Given the description of an element on the screen output the (x, y) to click on. 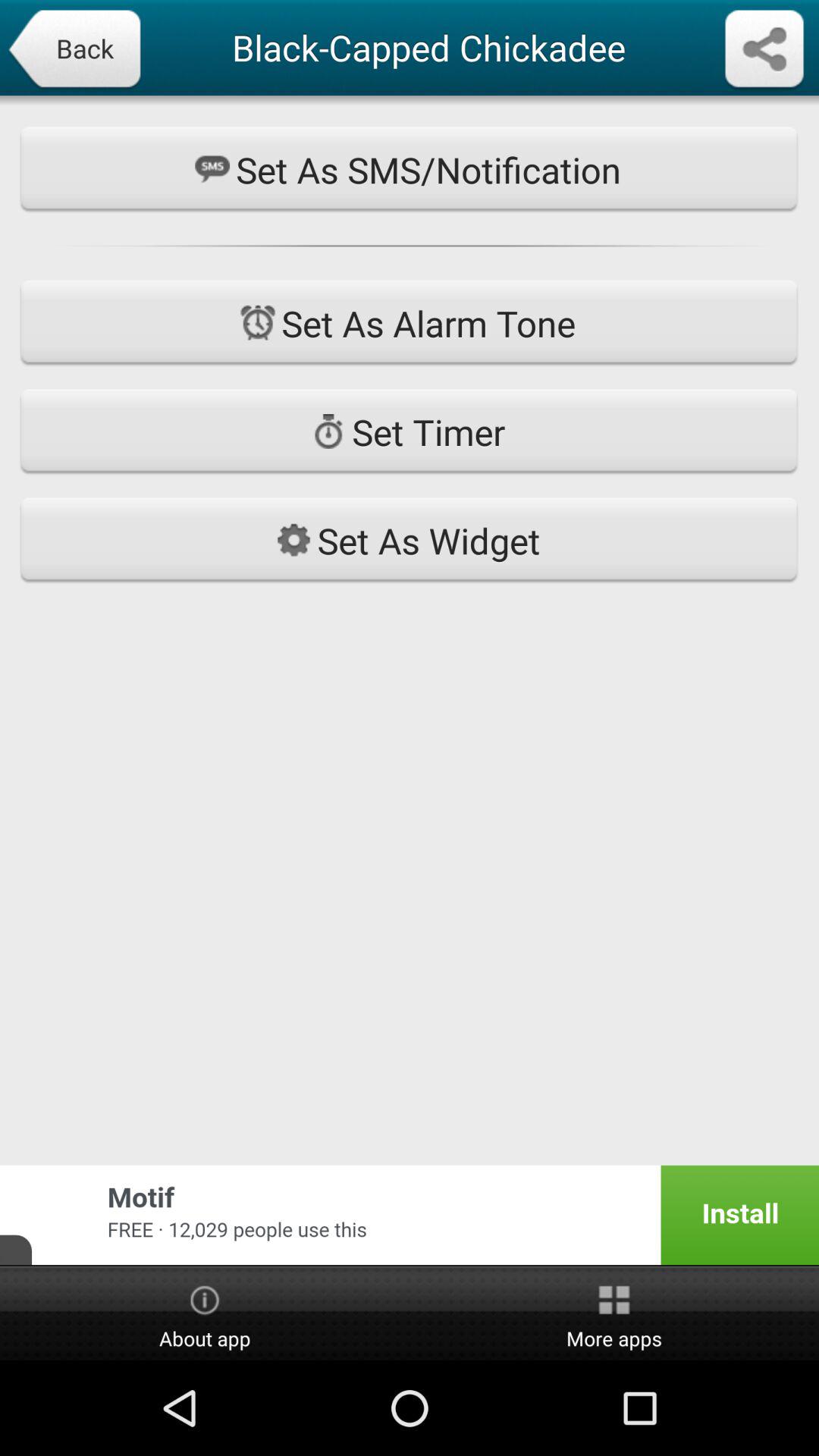
click the item at the bottom left corner (204, 1314)
